Given the description of an element on the screen output the (x, y) to click on. 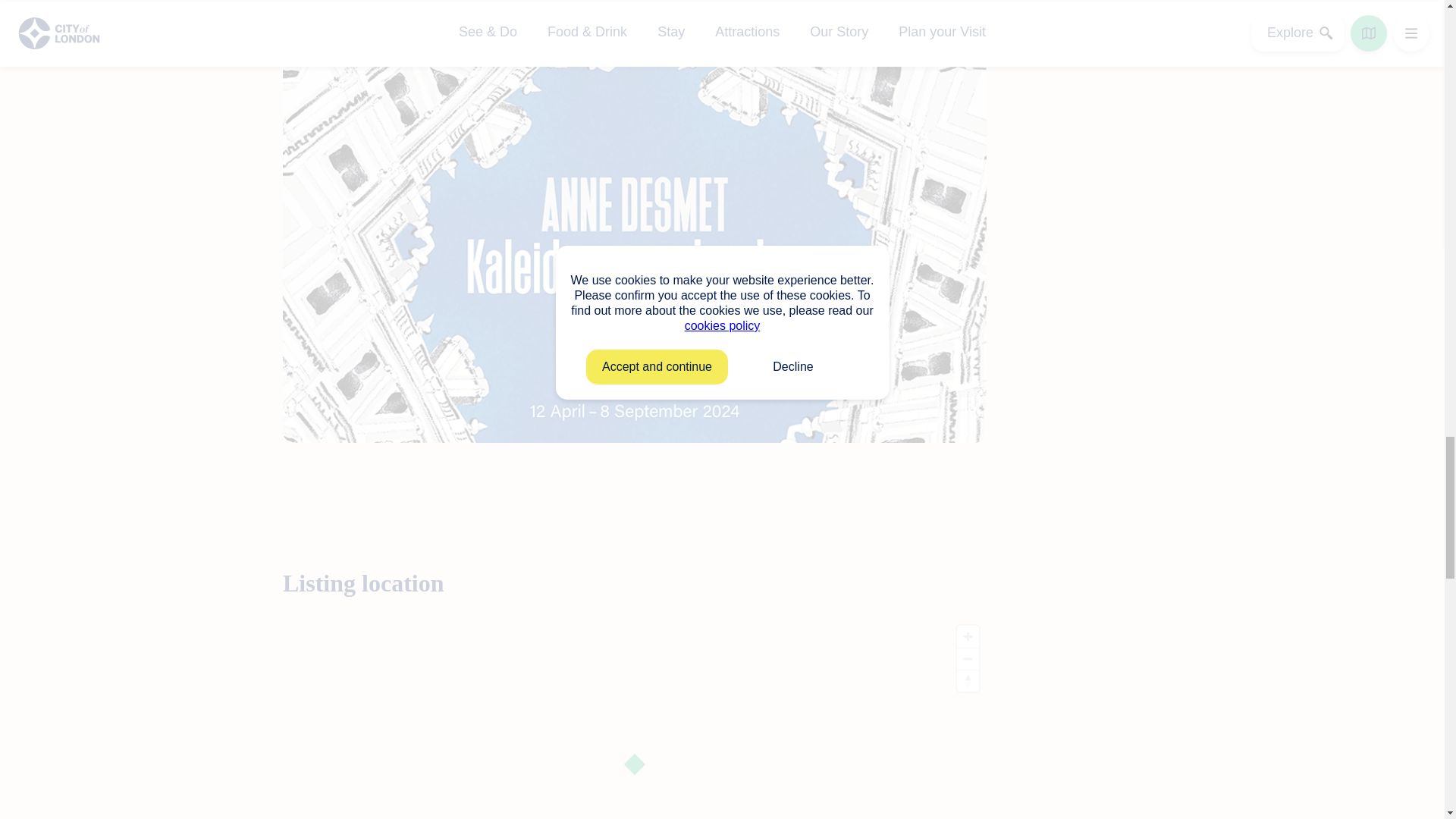
Reset bearing to north (967, 680)
Zoom in (967, 636)
Zoom out (967, 658)
